Given the description of an element on the screen output the (x, y) to click on. 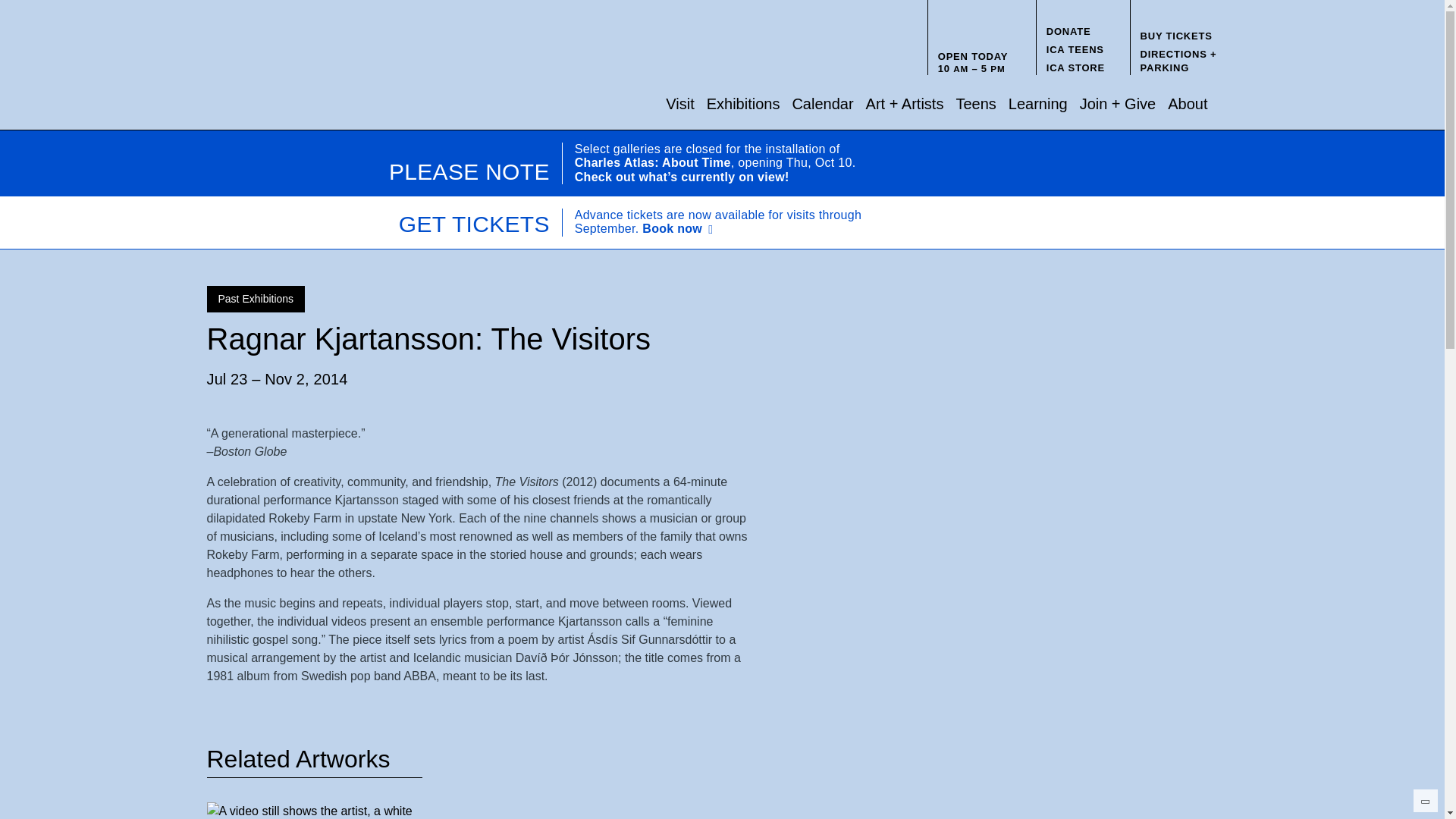
ICA STORE (1075, 67)
Calendar (822, 103)
Visit (679, 103)
Book now (680, 228)
ICA TEENS (1074, 49)
About (1187, 103)
Back to the top (1425, 800)
DONATE (1068, 30)
Charles Atlas: About Time (652, 162)
Exhibitions (743, 103)
